Given the description of an element on the screen output the (x, y) to click on. 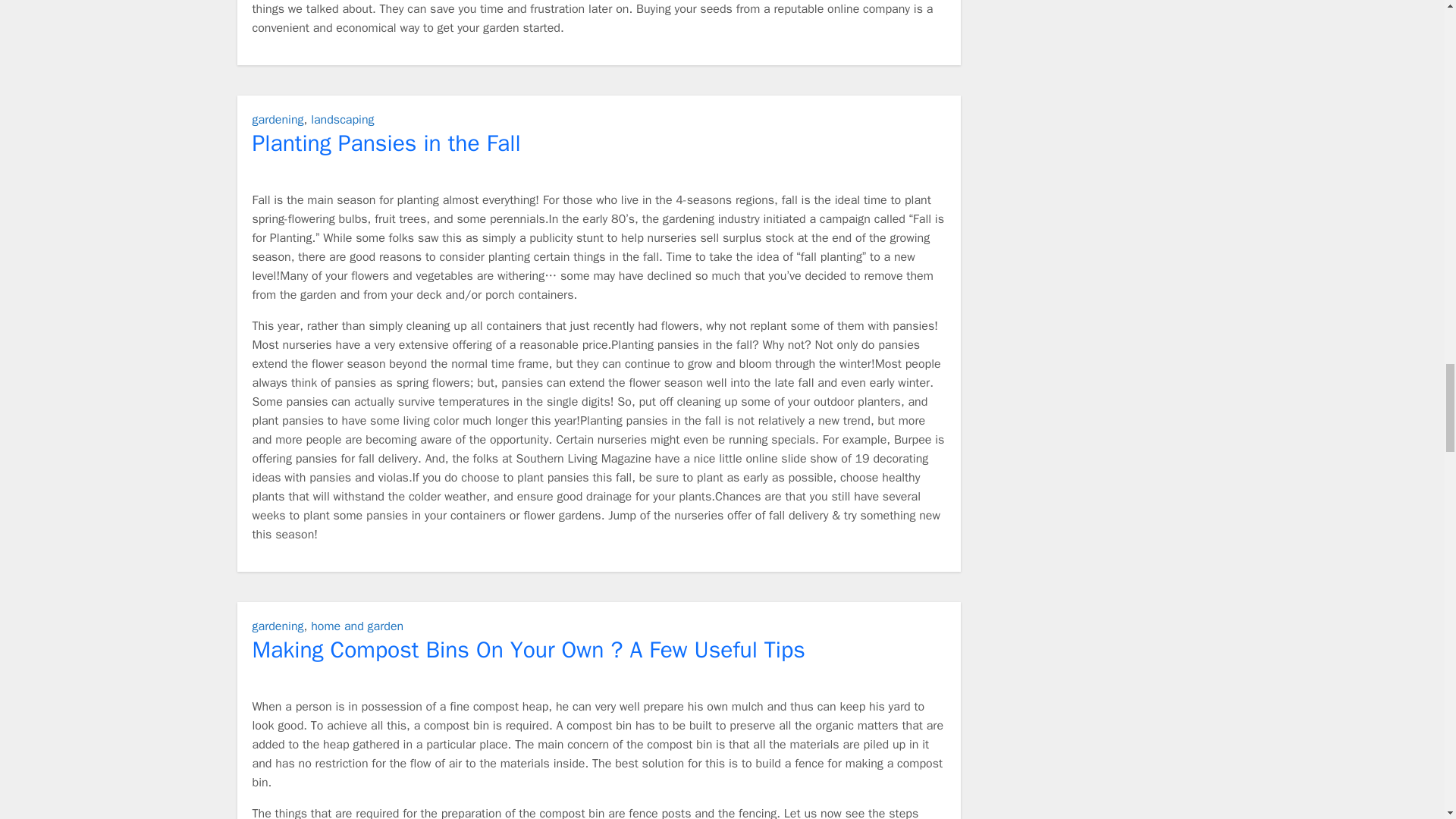
home and garden (357, 626)
Planting Pansies in the Fall (385, 143)
landscaping (342, 119)
gardening (276, 119)
Making Compost Bins On Your Own ? A Few Useful Tips (528, 649)
gardening (276, 626)
